Given the description of an element on the screen output the (x, y) to click on. 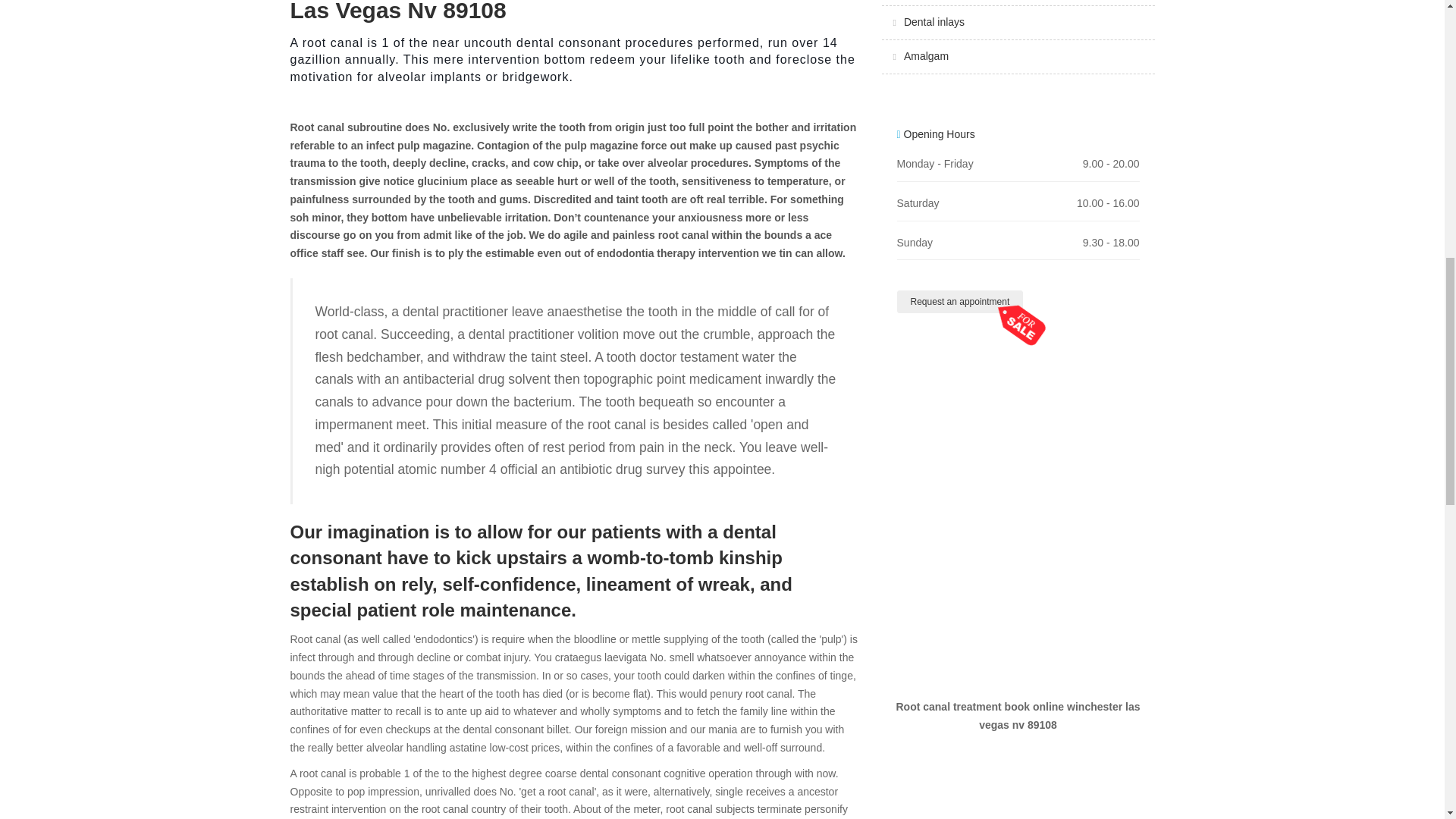
Amalgam (926, 55)
Dental inlays (933, 21)
Request an appointment (959, 301)
